Given the description of an element on the screen output the (x, y) to click on. 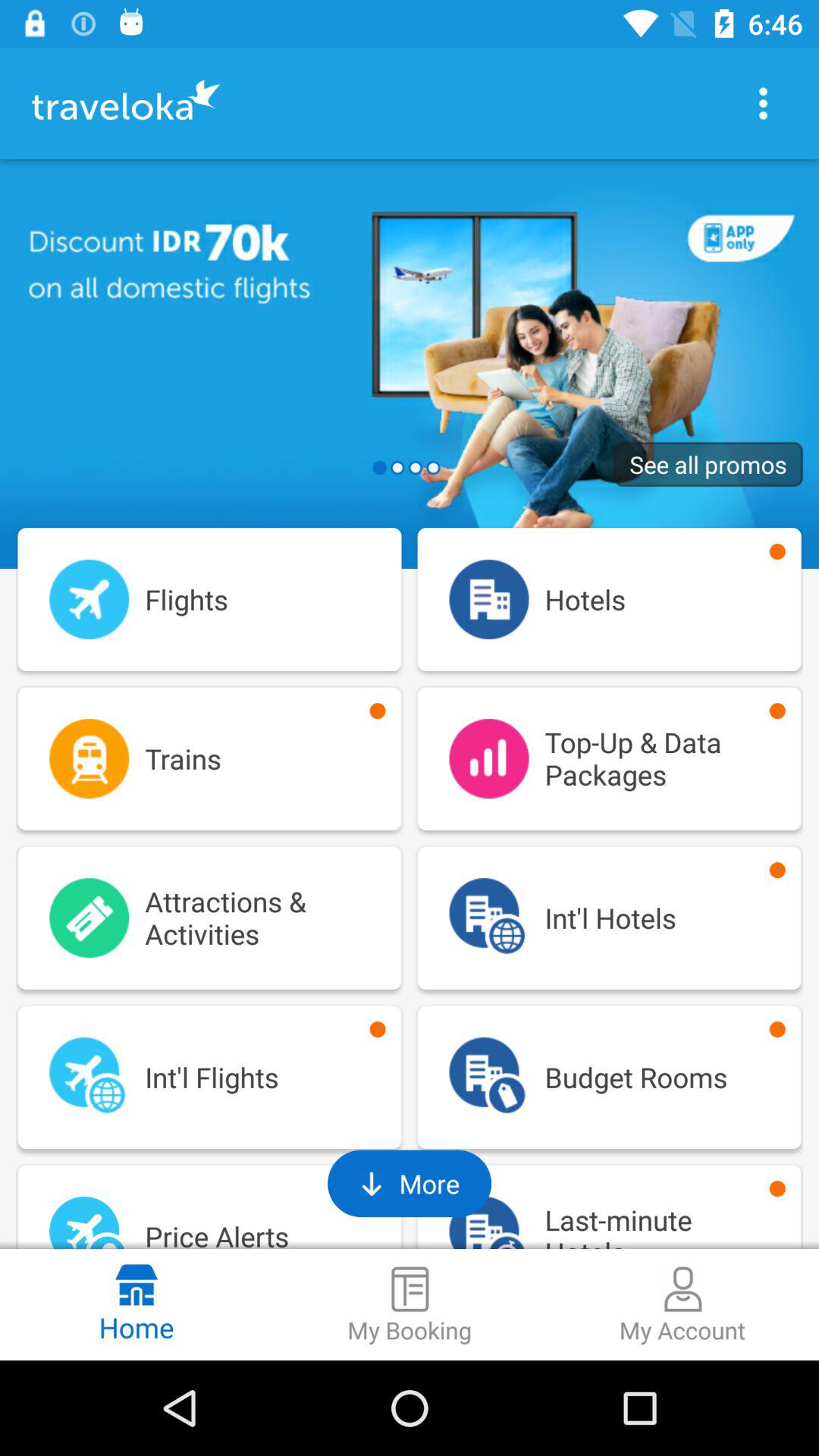
flip until the see all promos (708, 464)
